Given the description of an element on the screen output the (x, y) to click on. 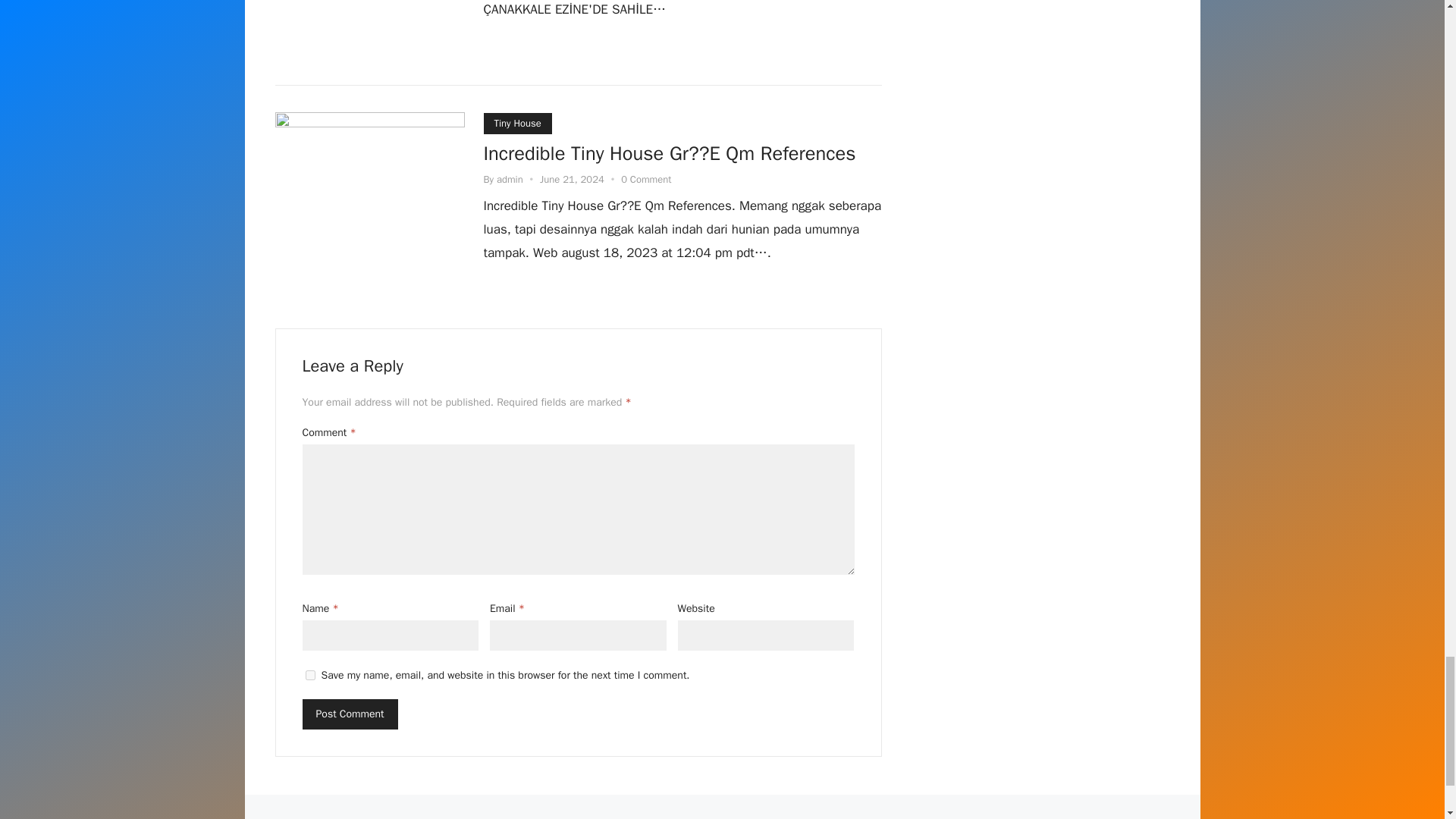
yes (309, 675)
Post Comment (349, 714)
Posts by admin (509, 178)
